Given the description of an element on the screen output the (x, y) to click on. 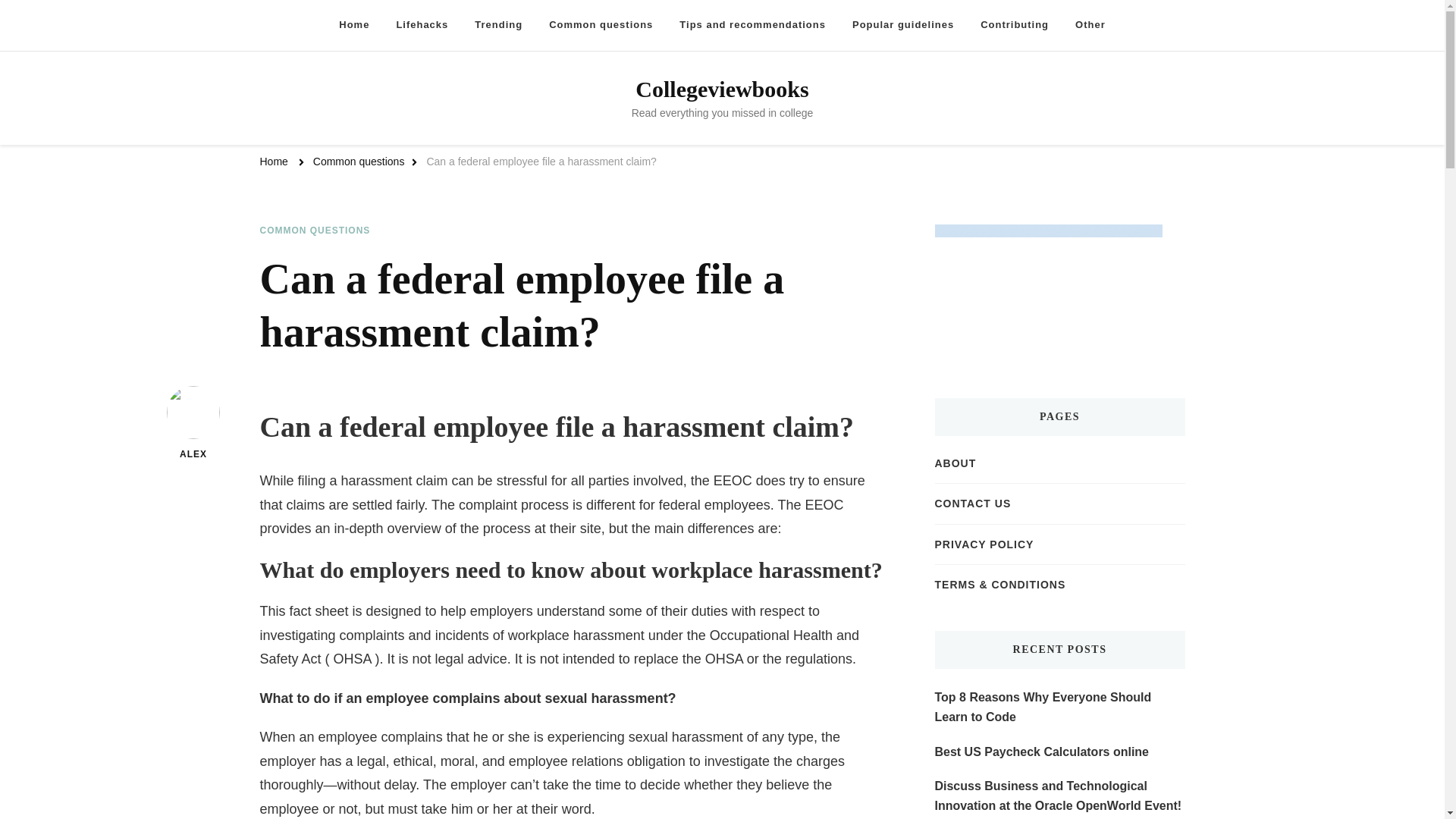
Messenger (5, 161)
Reddit (5, 168)
COMMON QUESTIONS (314, 231)
Common questions (600, 25)
PRIVACY POLICY (983, 544)
ABOUT (954, 463)
WhatsApp (5, 180)
Popular guidelines (903, 25)
Contributing (1014, 25)
Tips and recommendations (752, 25)
Top 8 Reasons Why Everyone Should Learn to Code (1059, 706)
Other (1090, 25)
Lifehacks (422, 25)
Home (353, 25)
